Given the description of an element on the screen output the (x, y) to click on. 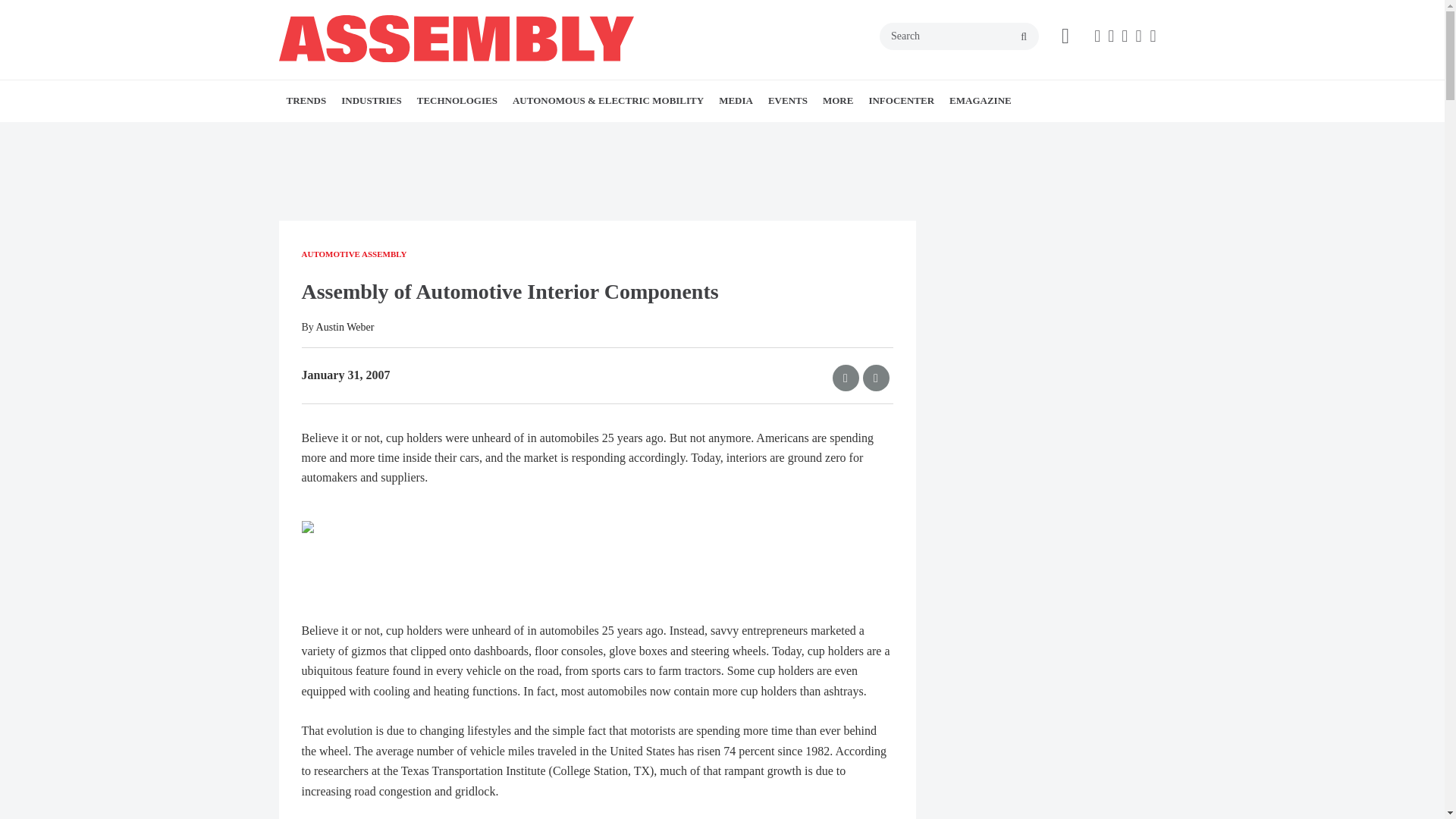
Search (959, 35)
AUTOMOTIVE (465, 134)
MOTION CONTROL (531, 134)
linkedin (1138, 36)
MEDICAL DEVICES (446, 134)
ROBOTICS (538, 134)
Search (959, 35)
NEWS (380, 134)
TRENDS (373, 134)
youtube (1153, 36)
ELECTRONICS ASSEMBLY (462, 134)
MANUFACTURING MANAGEMENT (522, 134)
MACHINERY ASSEMBLY (459, 134)
cart (1064, 35)
facebook (1097, 36)
